Given the description of an element on the screen output the (x, y) to click on. 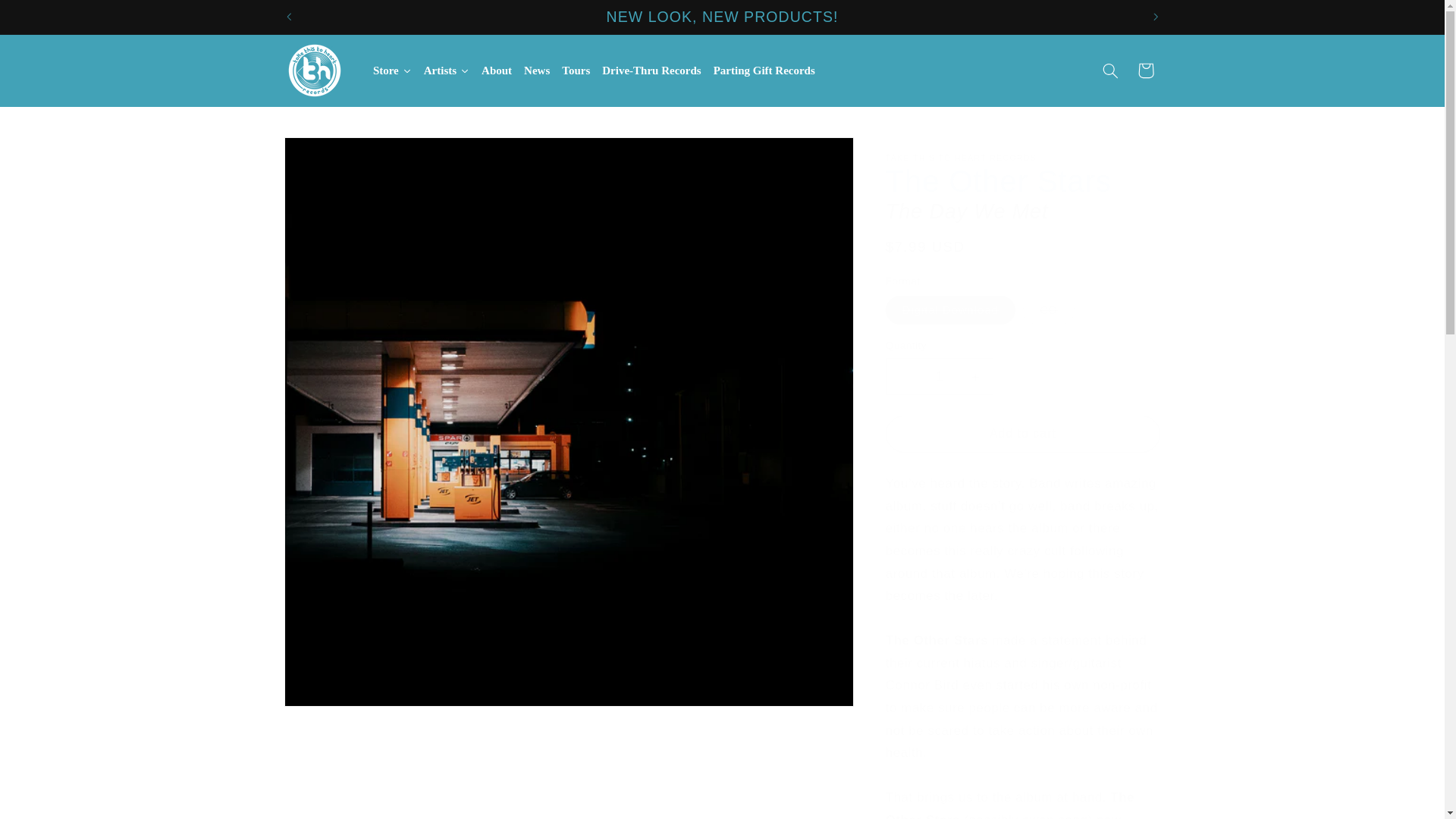
About (497, 70)
Skip to content (48, 18)
Parting Gift Records (764, 70)
1 (939, 375)
Tours (575, 70)
News (537, 70)
Drive-Thru Records (650, 70)
Artists (446, 70)
